Given the description of an element on the screen output the (x, y) to click on. 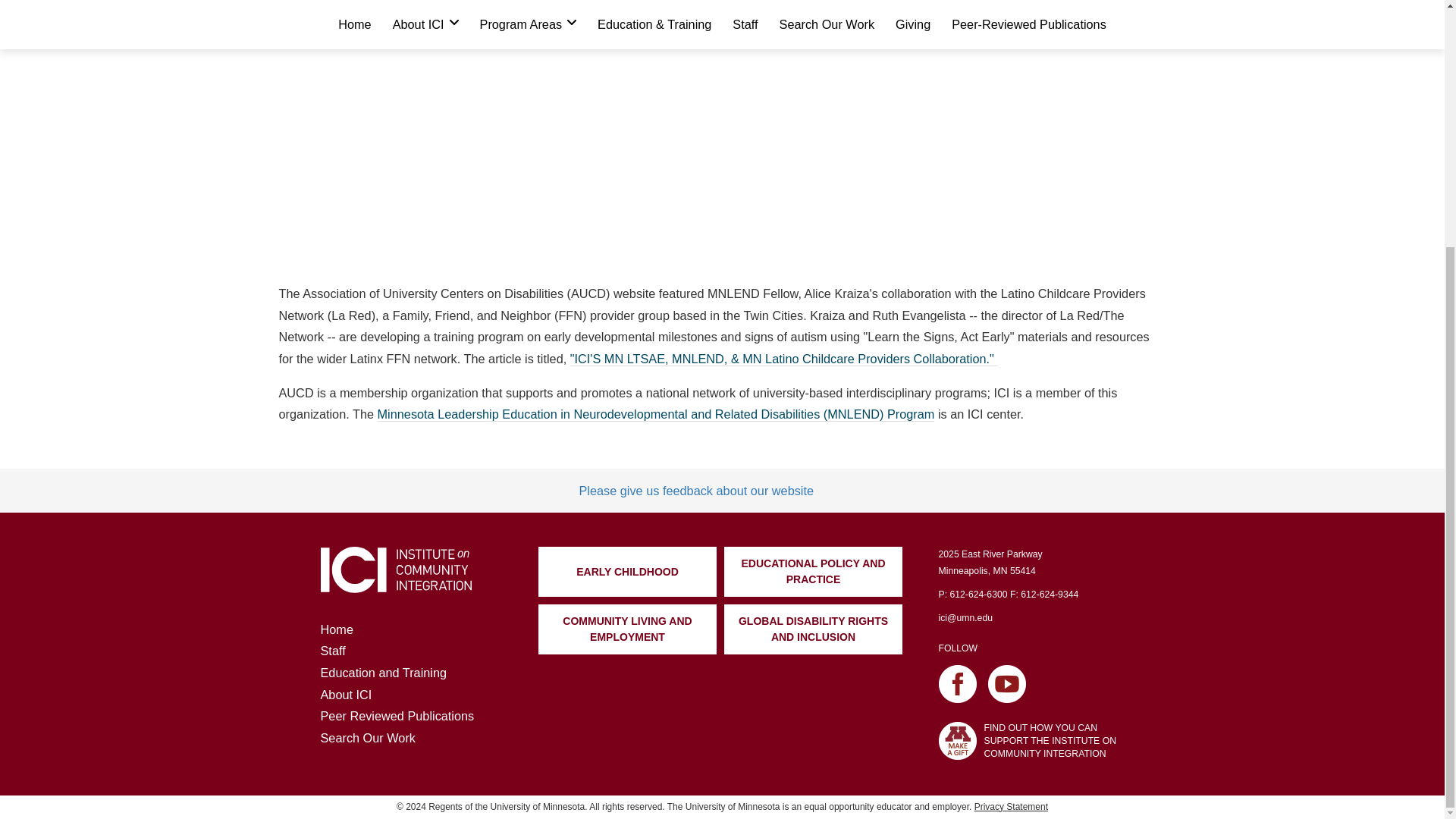
Please give us feedback about our website (696, 490)
COMMUNITY LIVING AND EMPLOYMENT (627, 629)
Staff (332, 650)
Home (336, 629)
Peer Reviewed Publications (397, 715)
Education and Training (383, 672)
EDUCATIONAL POLICY AND PRACTICE (812, 572)
GLOBAL DISABILITY RIGHTS AND INCLUSION (812, 629)
Institute on Community Integration (395, 569)
